Given the description of an element on the screen output the (x, y) to click on. 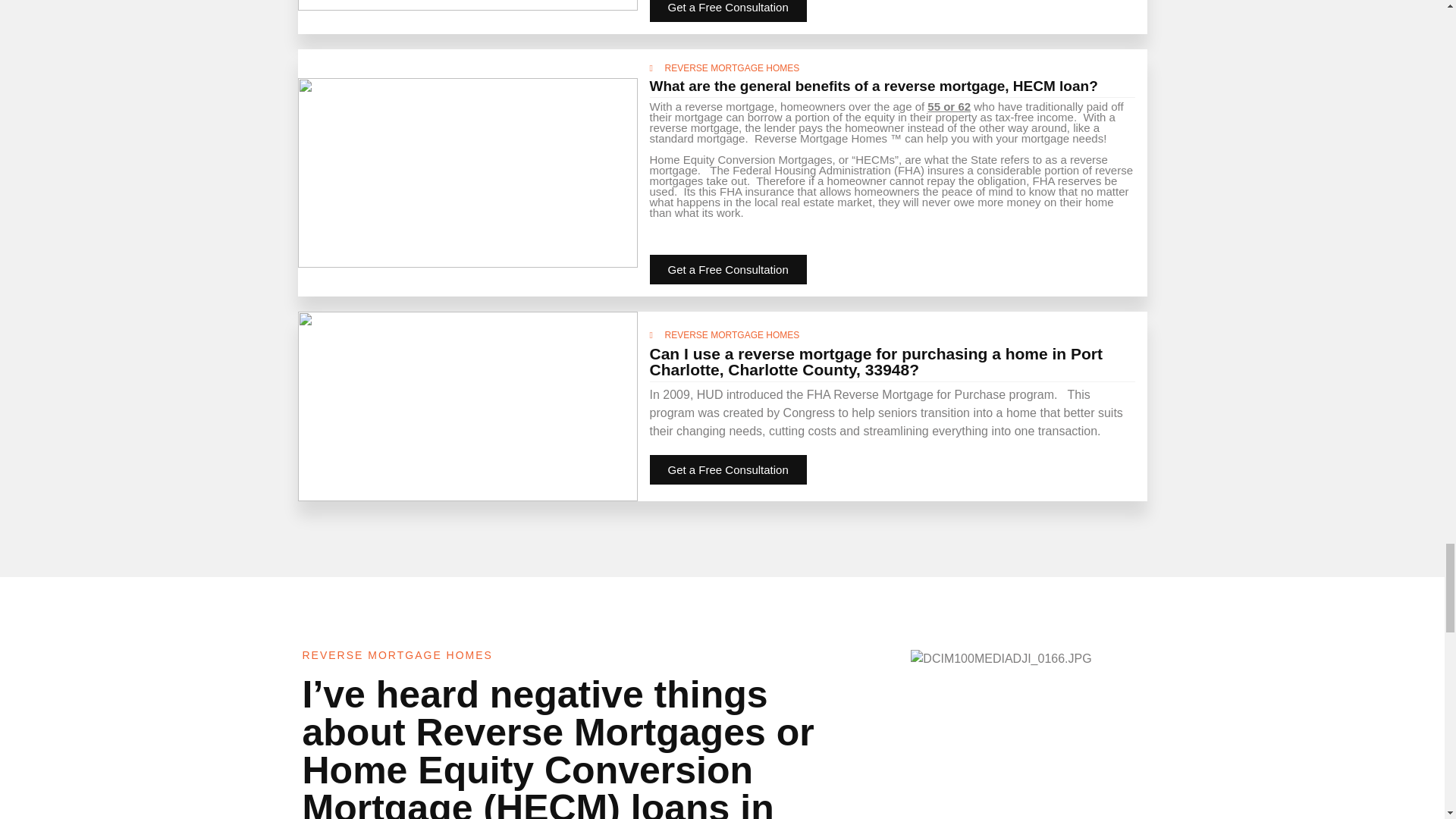
Get a Free Consultation (727, 269)
Get a Free Consultation (727, 11)
Get a Free Consultation (727, 469)
